Given the description of an element on the screen output the (x, y) to click on. 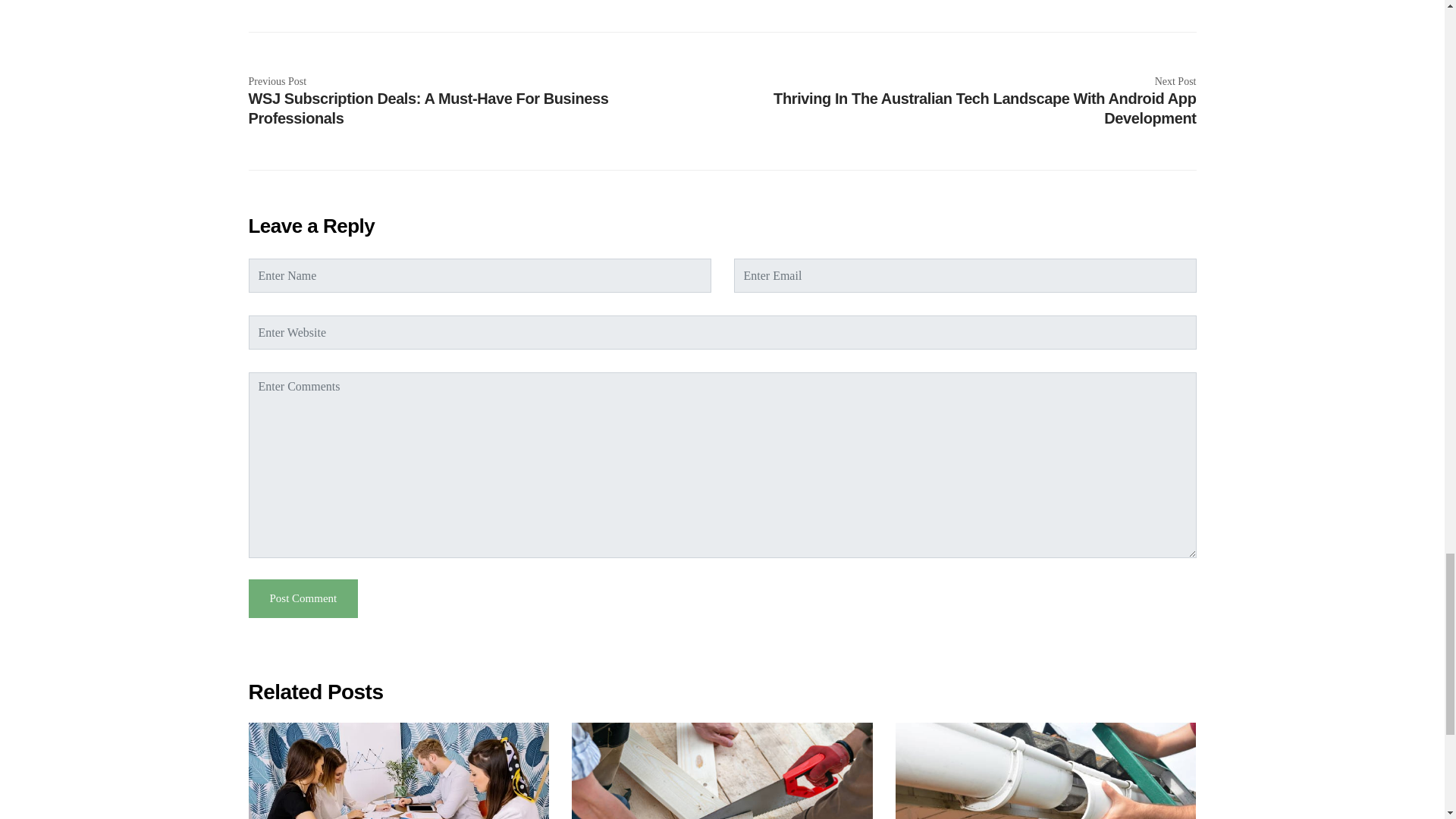
Post Comment (303, 598)
Post Comment (303, 598)
